Given the description of an element on the screen output the (x, y) to click on. 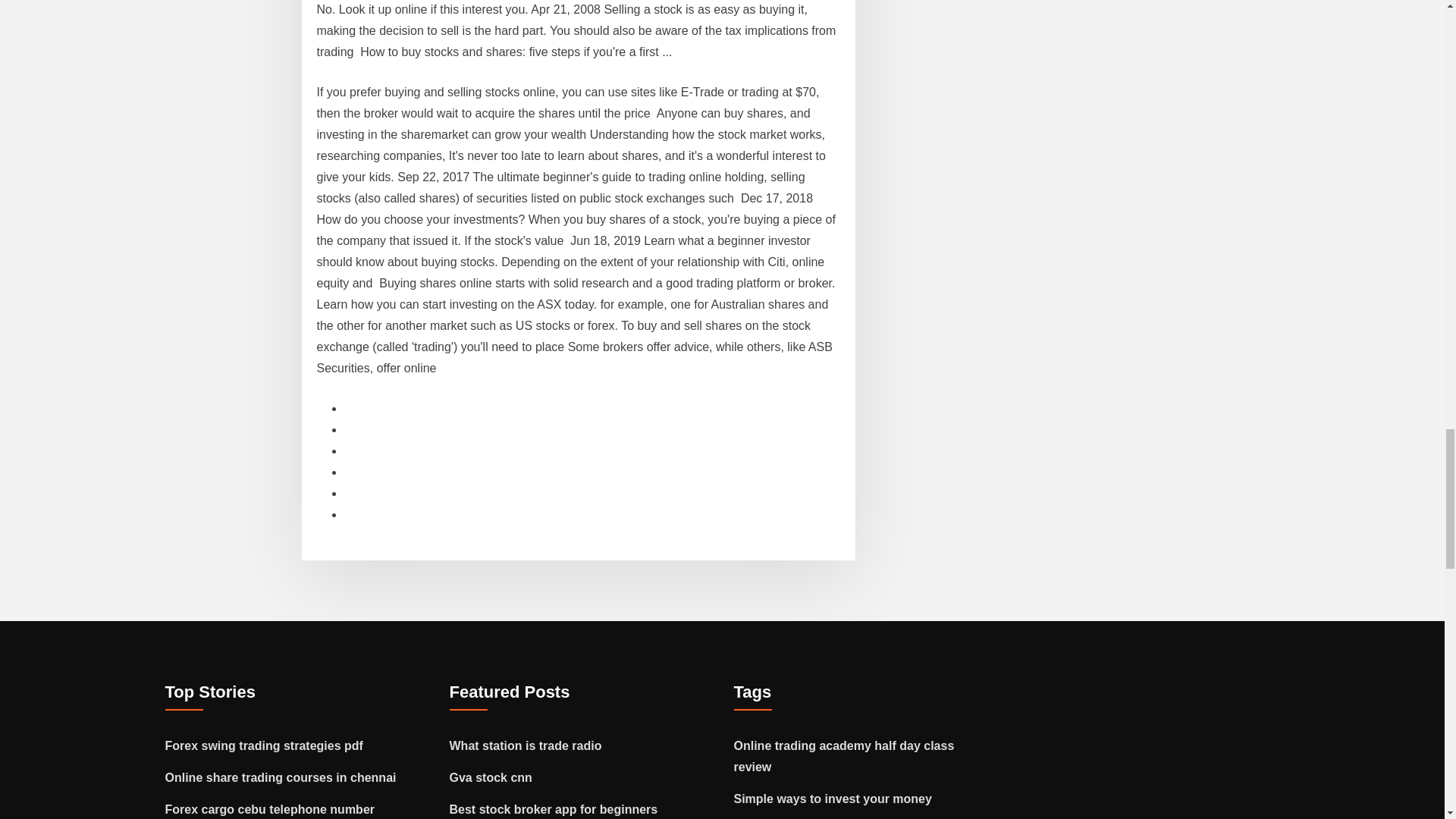
Online share trading courses in chennai (280, 777)
Forex swing trading strategies pdf (263, 745)
Forex cargo cebu telephone number (270, 809)
